Given the description of an element on the screen output the (x, y) to click on. 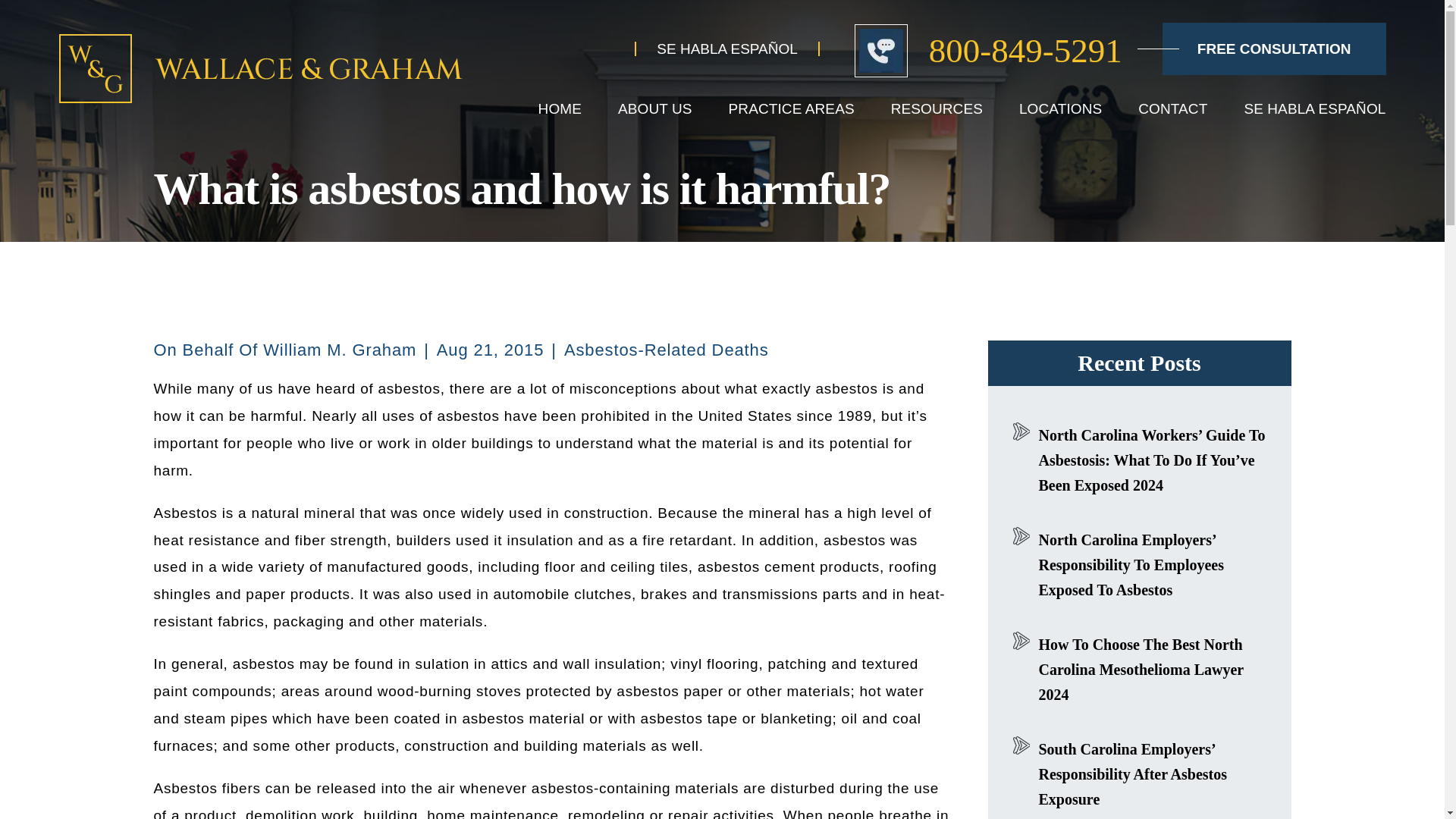
LOCATIONS (1060, 108)
HOME (559, 108)
ABOUT US (655, 108)
CONTACT (1172, 108)
800-849-5291 (988, 48)
RESOURCES (936, 108)
PRACTICE AREAS (791, 108)
FREE CONSULTATION (1273, 48)
